Given the description of an element on the screen output the (x, y) to click on. 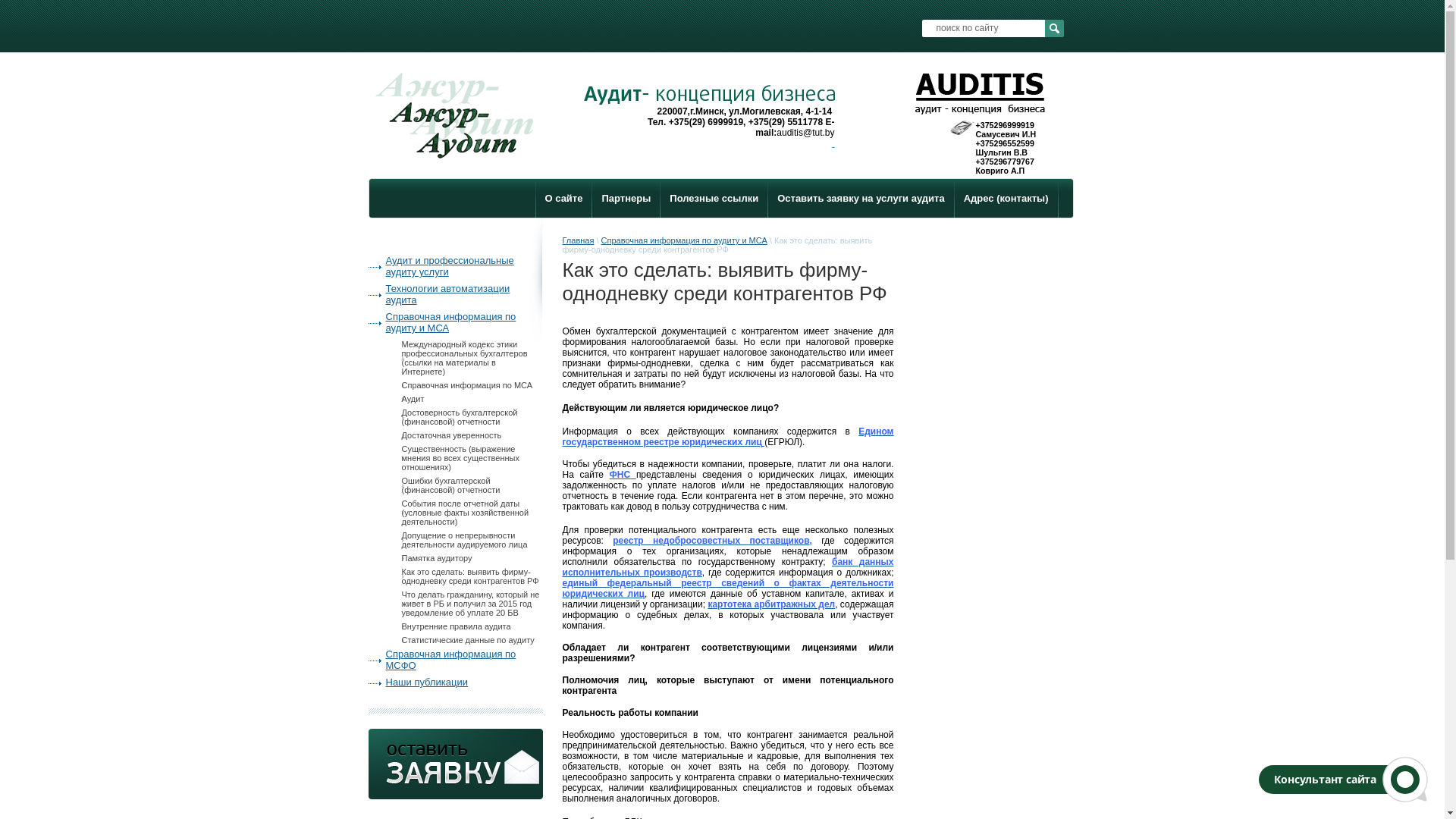
  Element type: text (832, 143)
